Given the description of an element on the screen output the (x, y) to click on. 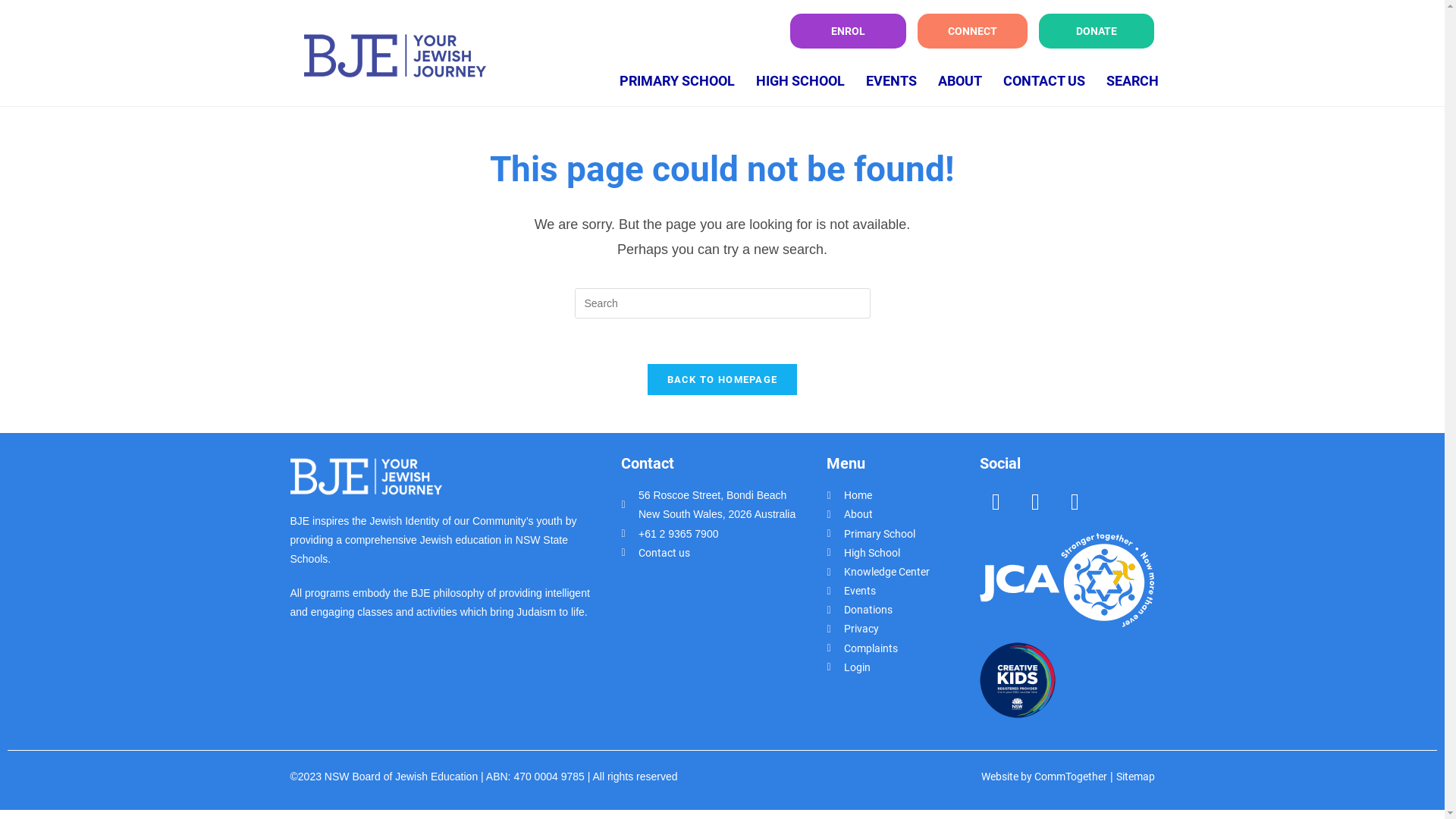
ENROL Element type: text (848, 30)
About Element type: text (902, 514)
Website by CommTogether Element type: text (1044, 776)
Contact us Element type: text (708, 552)
High School Element type: text (902, 552)
SEARCH Element type: text (1132, 80)
Login Element type: text (902, 667)
Privacy Element type: text (902, 628)
HIGH SCHOOL Element type: text (800, 80)
Events Element type: text (902, 590)
CONNECT Element type: text (972, 30)
Primary School Element type: text (902, 533)
ABOUT Element type: text (959, 80)
DONATE Element type: text (1096, 30)
EVENTS Element type: text (891, 80)
Donations Element type: text (902, 609)
Sitemap Element type: text (1135, 776)
Complaints Element type: text (902, 648)
Home Element type: text (902, 495)
BACK TO HOMEPAGE Element type: text (722, 379)
PRIMARY SCHOOL Element type: text (676, 80)
CONTACT US Element type: text (1043, 80)
Knowledge Center Element type: text (902, 571)
